Given the description of an element on the screen output the (x, y) to click on. 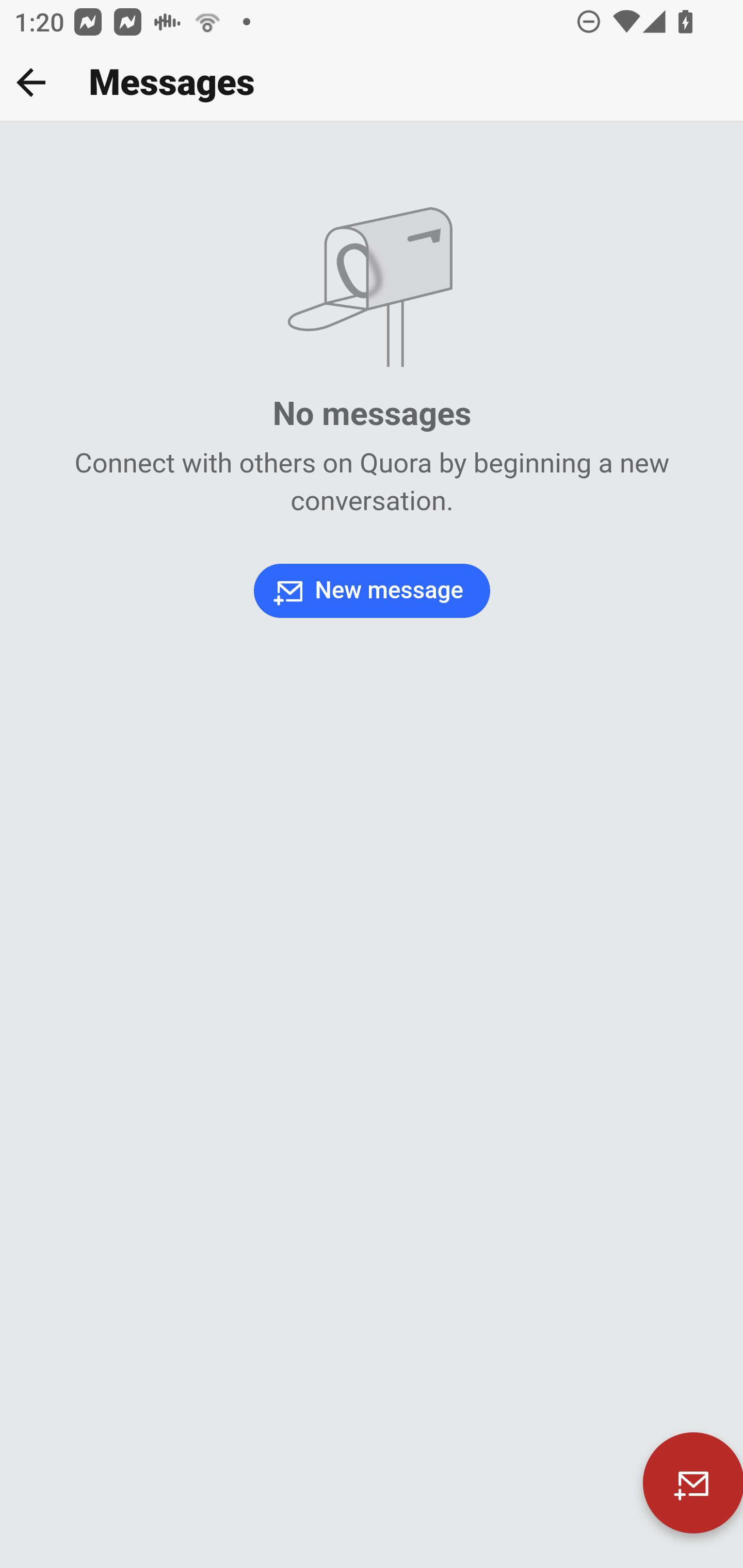
Back (30, 82)
New message (371, 589)
